Given the description of an element on the screen output the (x, y) to click on. 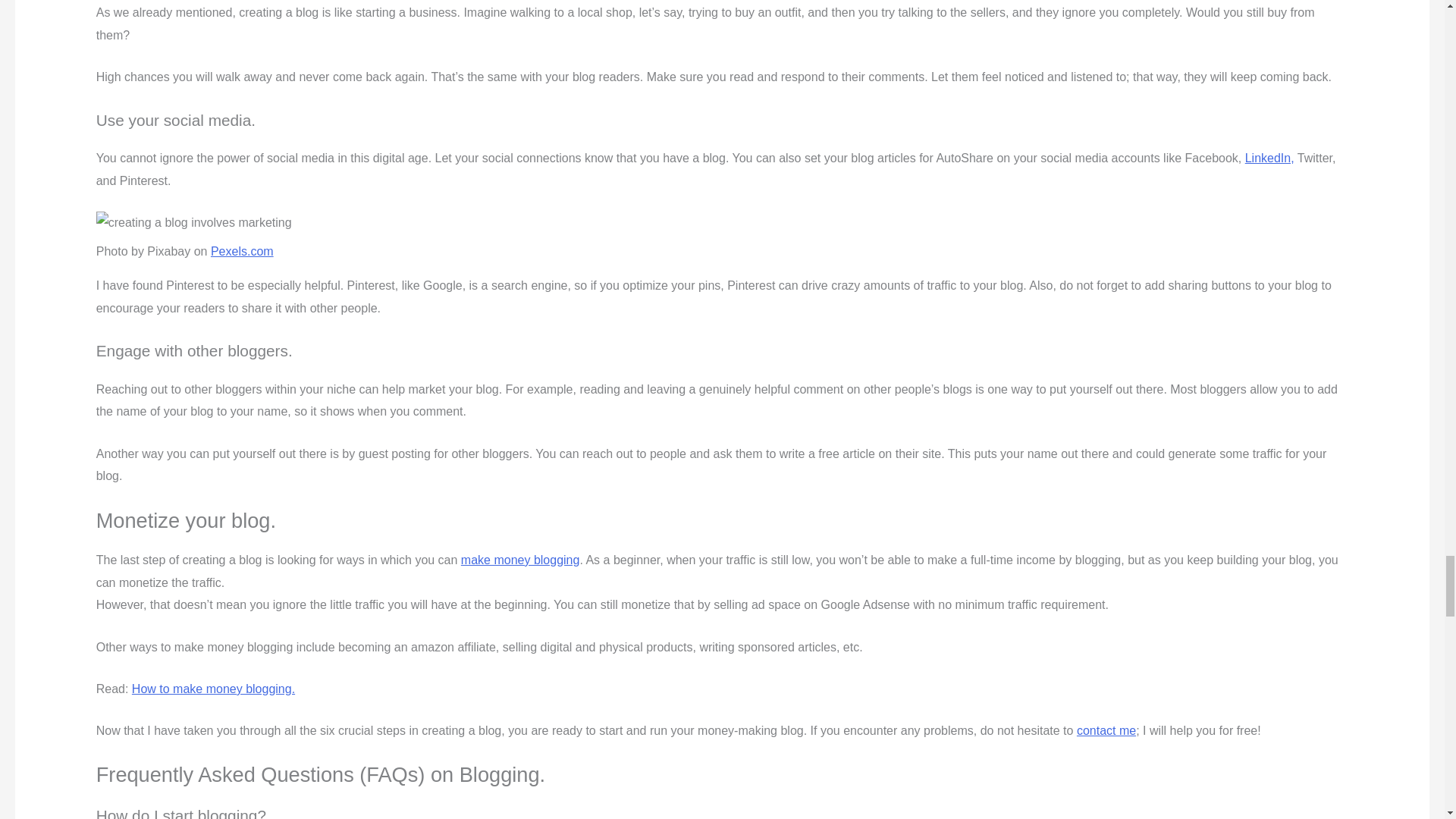
contact me (1106, 730)
LinkedIn, (1269, 157)
Pexels.com (242, 250)
make money blogging (520, 559)
How to make money blogging. (213, 688)
